Given the description of an element on the screen output the (x, y) to click on. 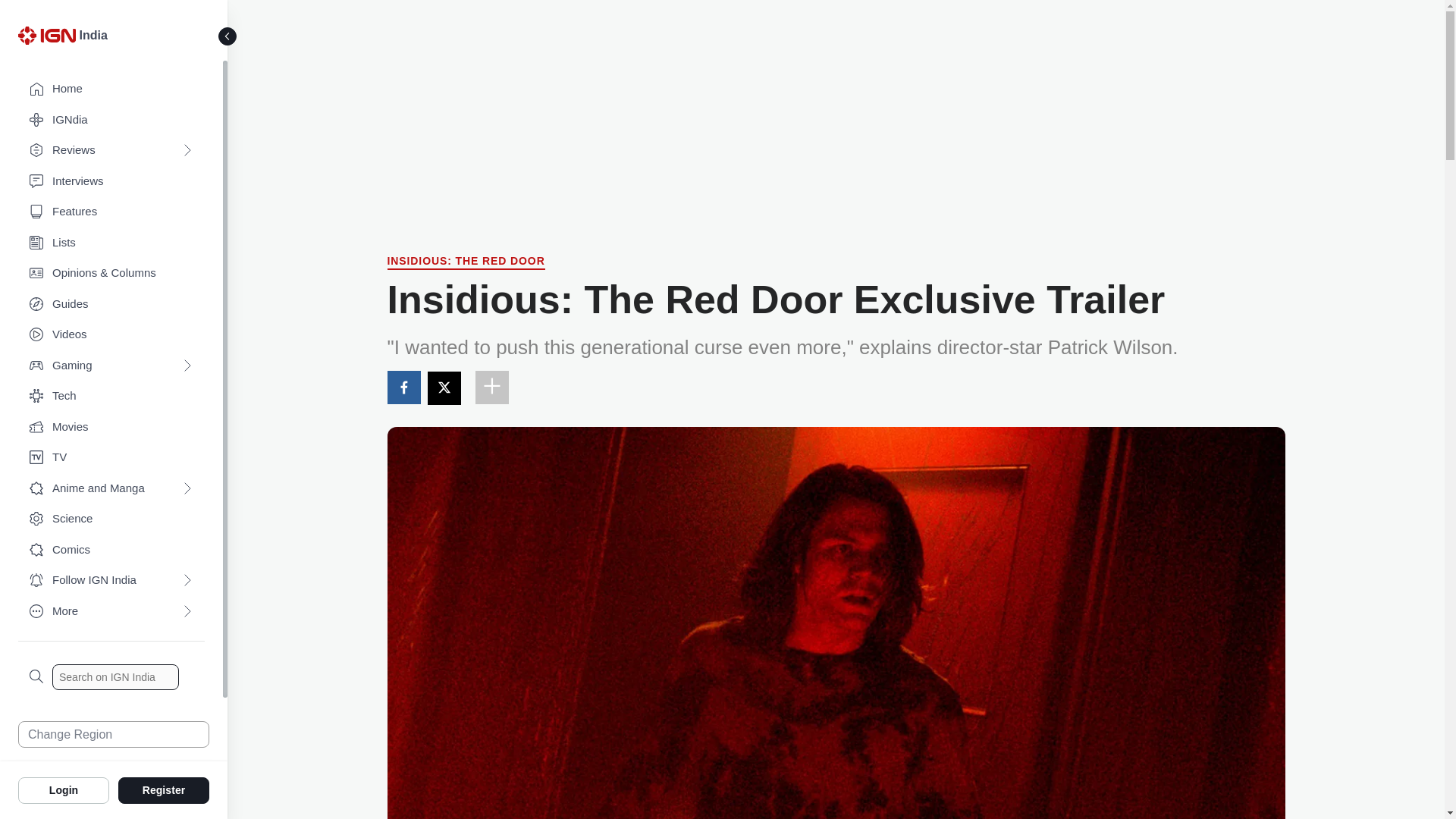
Gaming (111, 365)
Comics (111, 550)
Toggle Sidebar (226, 36)
IGNdia (111, 119)
Insidious: The Red Door (465, 262)
Anime and Manga (111, 487)
Movies (111, 427)
IGN Logo (48, 39)
IGN Logo (46, 34)
Features (111, 211)
Follow IGN India (111, 580)
Home (111, 89)
TV (111, 457)
Videos (111, 334)
Lists (111, 242)
